Given the description of an element on the screen output the (x, y) to click on. 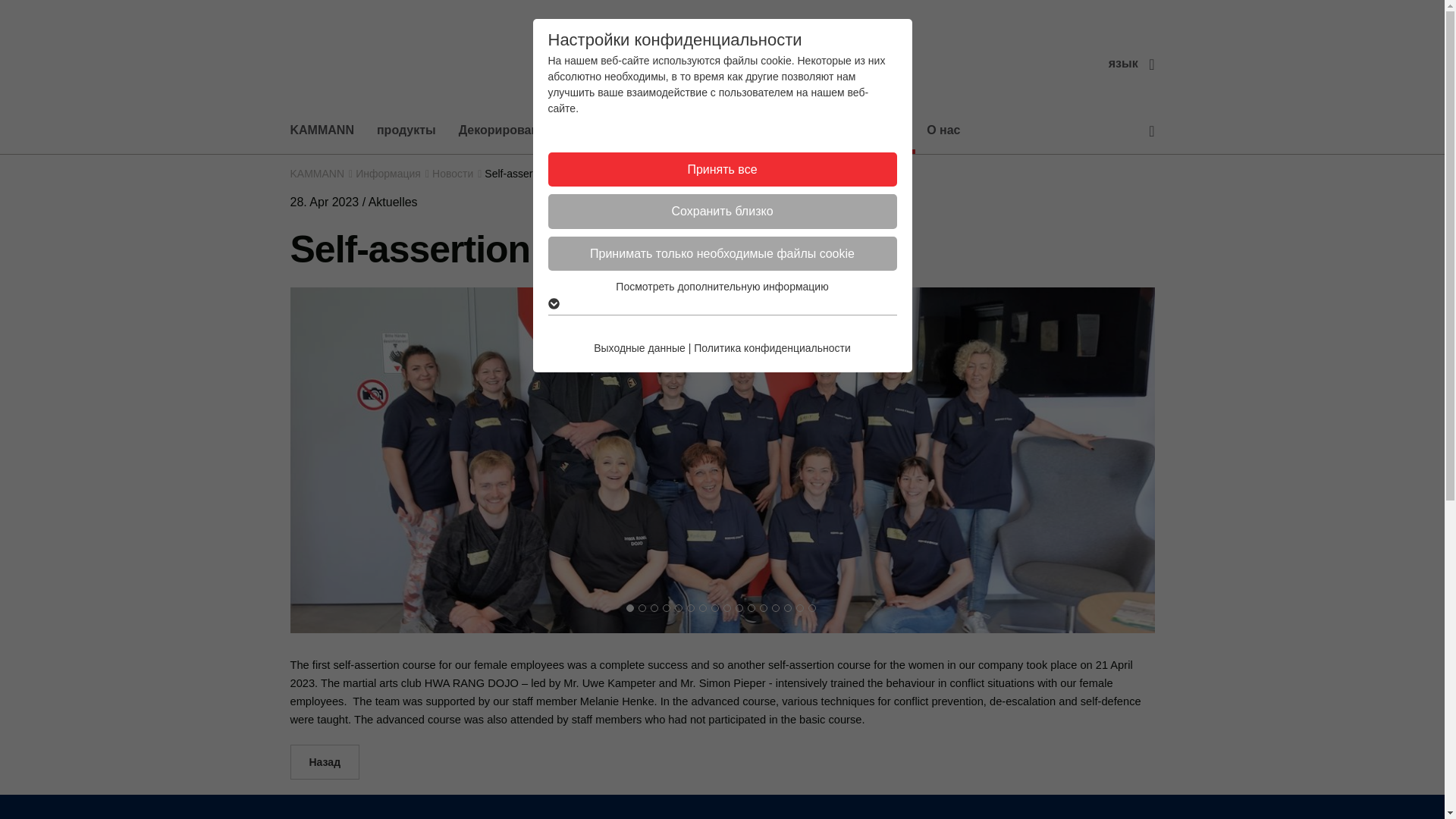
KAMMANN (327, 129)
Remont Servis (617, 129)
